Given the description of an element on the screen output the (x, y) to click on. 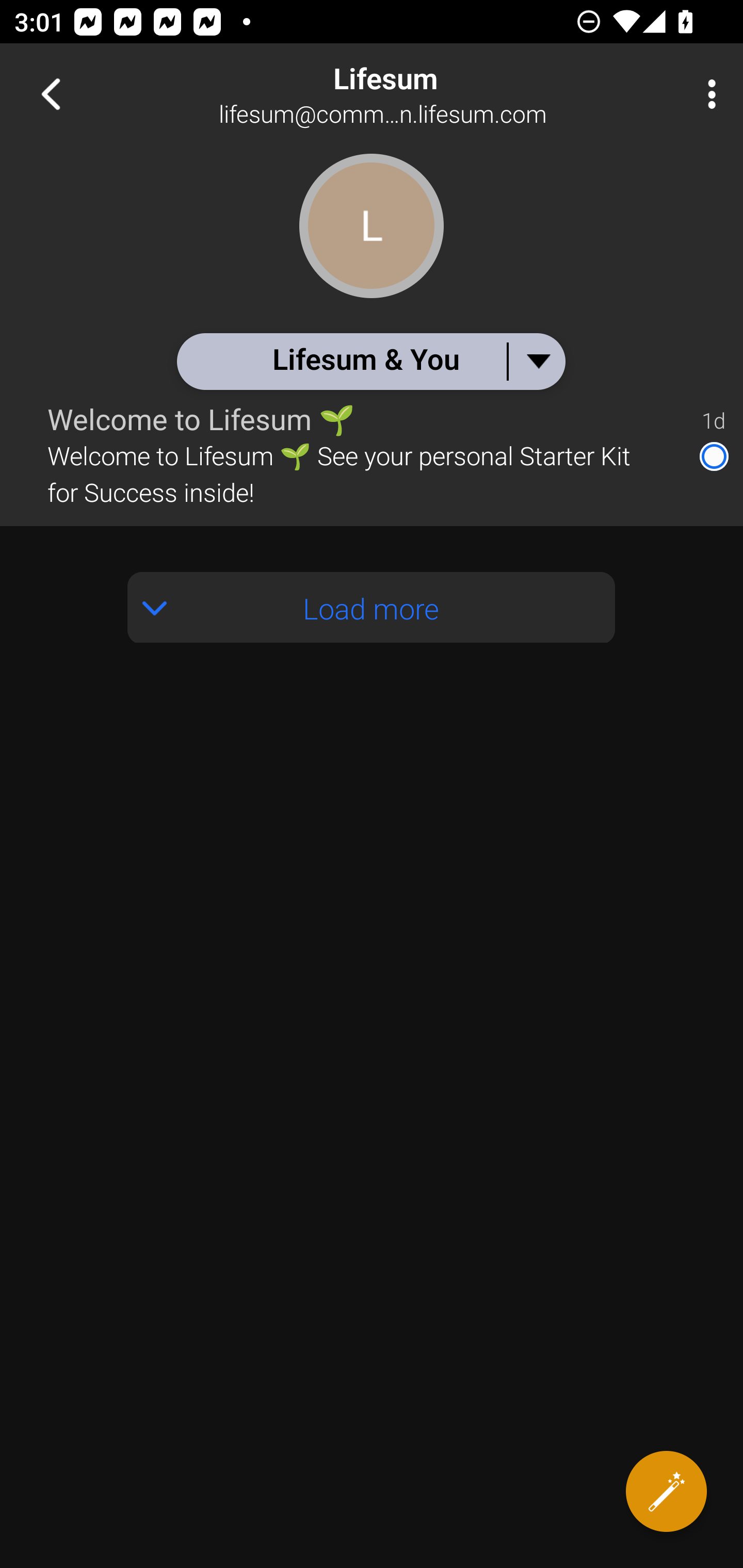
Navigate up (50, 93)
Lifesum lifesum@communication.lifesum.com (436, 93)
More Options (706, 93)
Lifesum & You (370, 361)
Load more (371, 607)
